Given the description of an element on the screen output the (x, y) to click on. 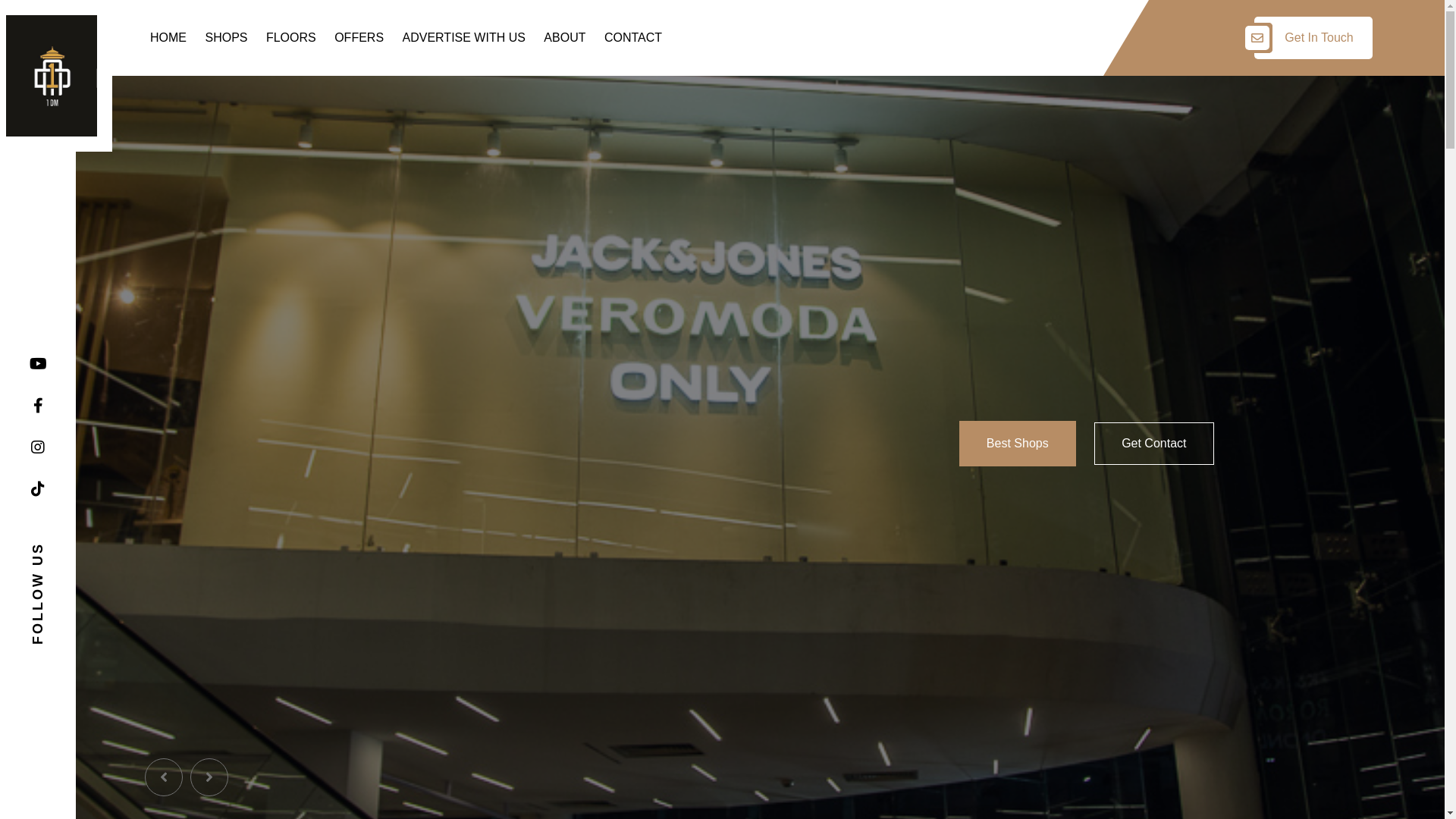
ADVERTISE WITH US Element type: text (463, 37)
CONTACT Element type: text (633, 37)
HOME Element type: text (168, 37)
Get In Touch Element type: text (1312, 37)
Best Shops Element type: text (1017, 443)
SHOPS Element type: text (225, 37)
ABOUT Element type: text (564, 37)
OFFERS Element type: text (358, 37)
FLOORS Element type: text (291, 37)
Get Contact Element type: text (1153, 443)
